Given the description of an element on the screen output the (x, y) to click on. 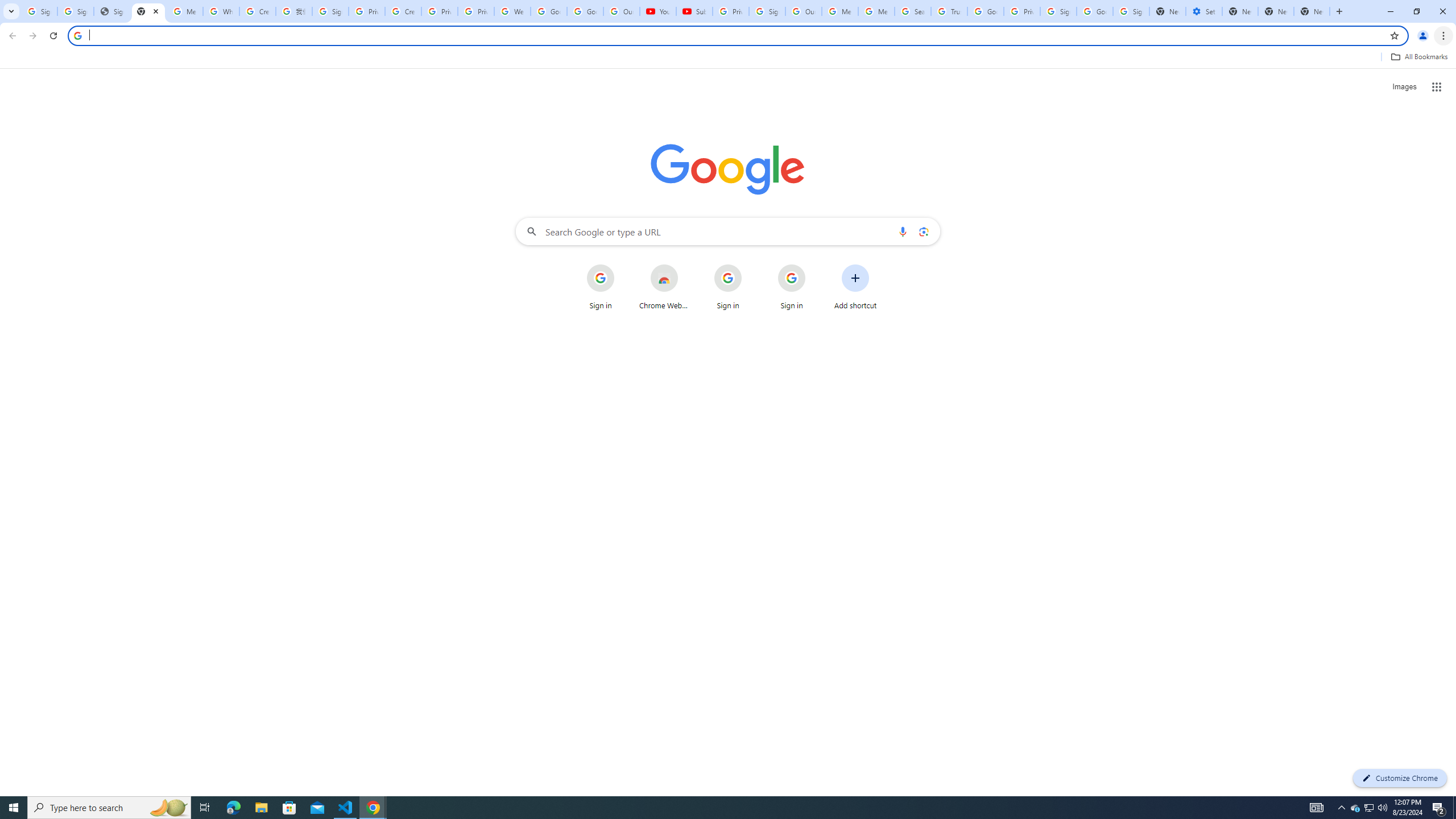
Create your Google Account (257, 11)
Create your Google Account (403, 11)
Customize Chrome (1399, 778)
Search icon (77, 35)
Search by voice (902, 230)
You (1422, 35)
Minimize (1390, 11)
New Tab (1240, 11)
Chrome Web Store (663, 287)
Who is my administrator? - Google Account Help (221, 11)
Welcome to My Activity (512, 11)
